Given the description of an element on the screen output the (x, y) to click on. 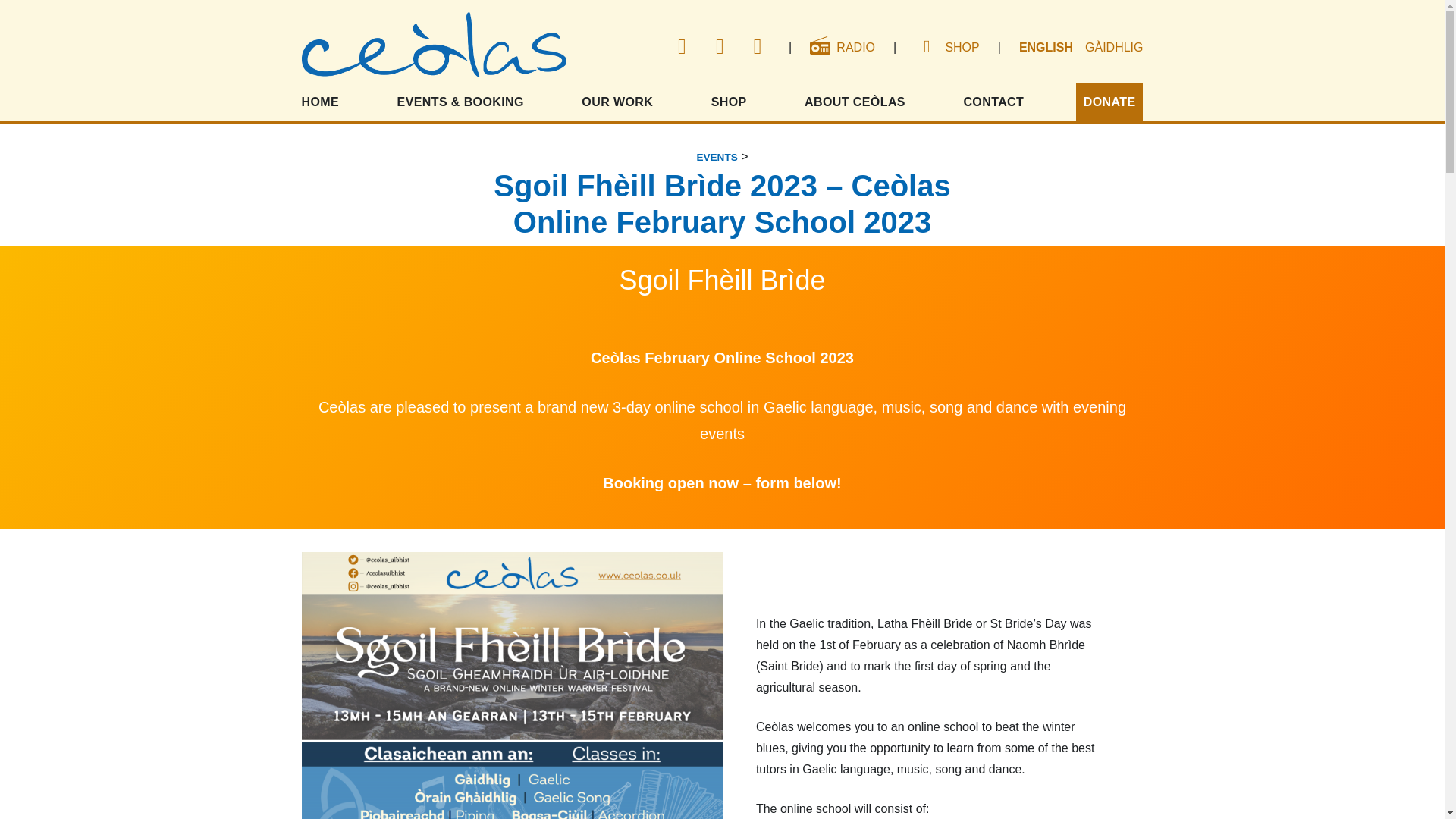
SHOP (962, 47)
Shop (962, 47)
SHOP (728, 101)
Ceolas Uibhist (434, 47)
View your shopping basket (923, 48)
HOME (323, 101)
CONTACT (992, 101)
OUR WORK (617, 101)
ENGLISH (1045, 47)
RADIO (841, 47)
